Given the description of an element on the screen output the (x, y) to click on. 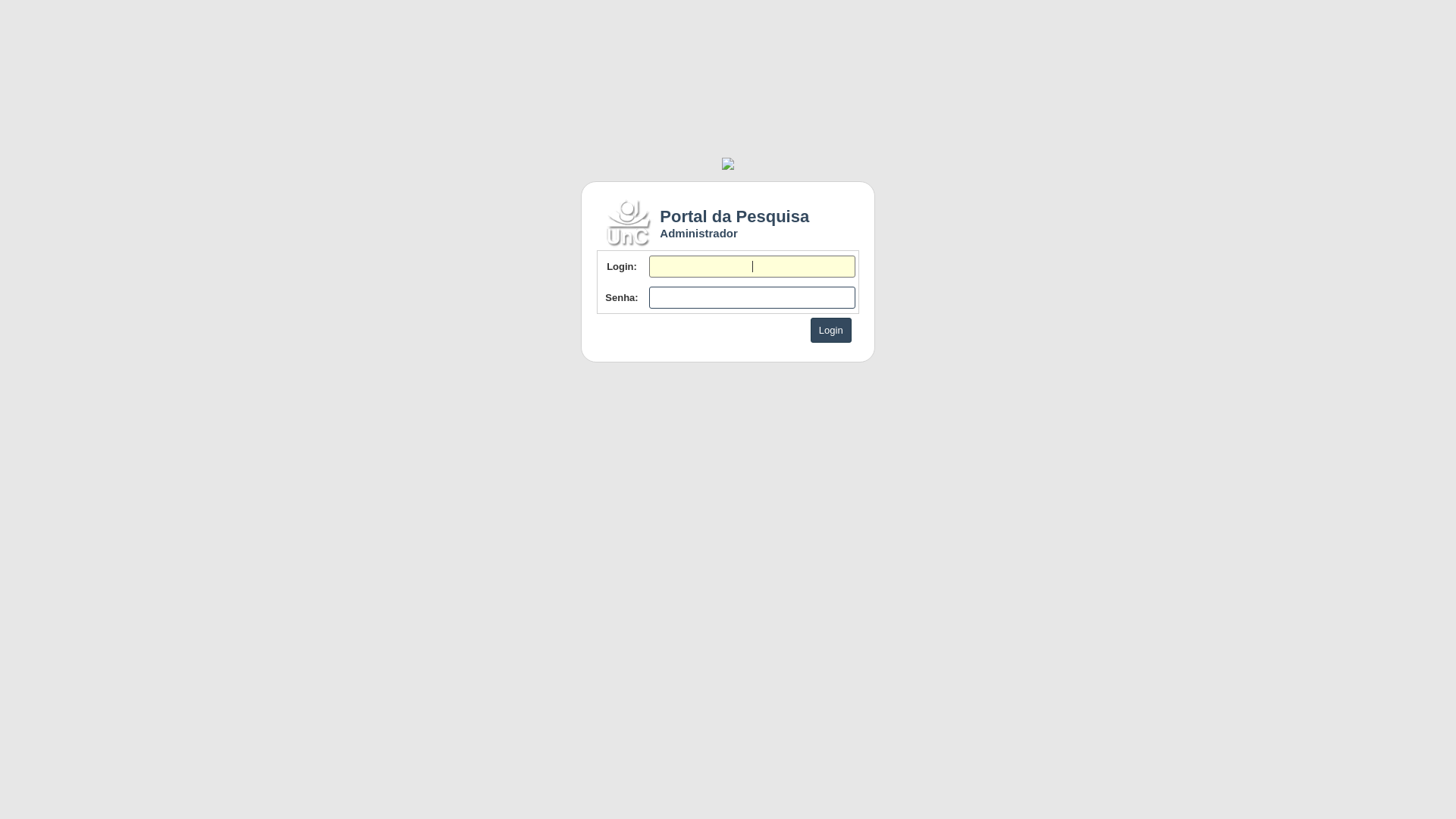
Login Element type: text (830, 329)
